Given the description of an element on the screen output the (x, y) to click on. 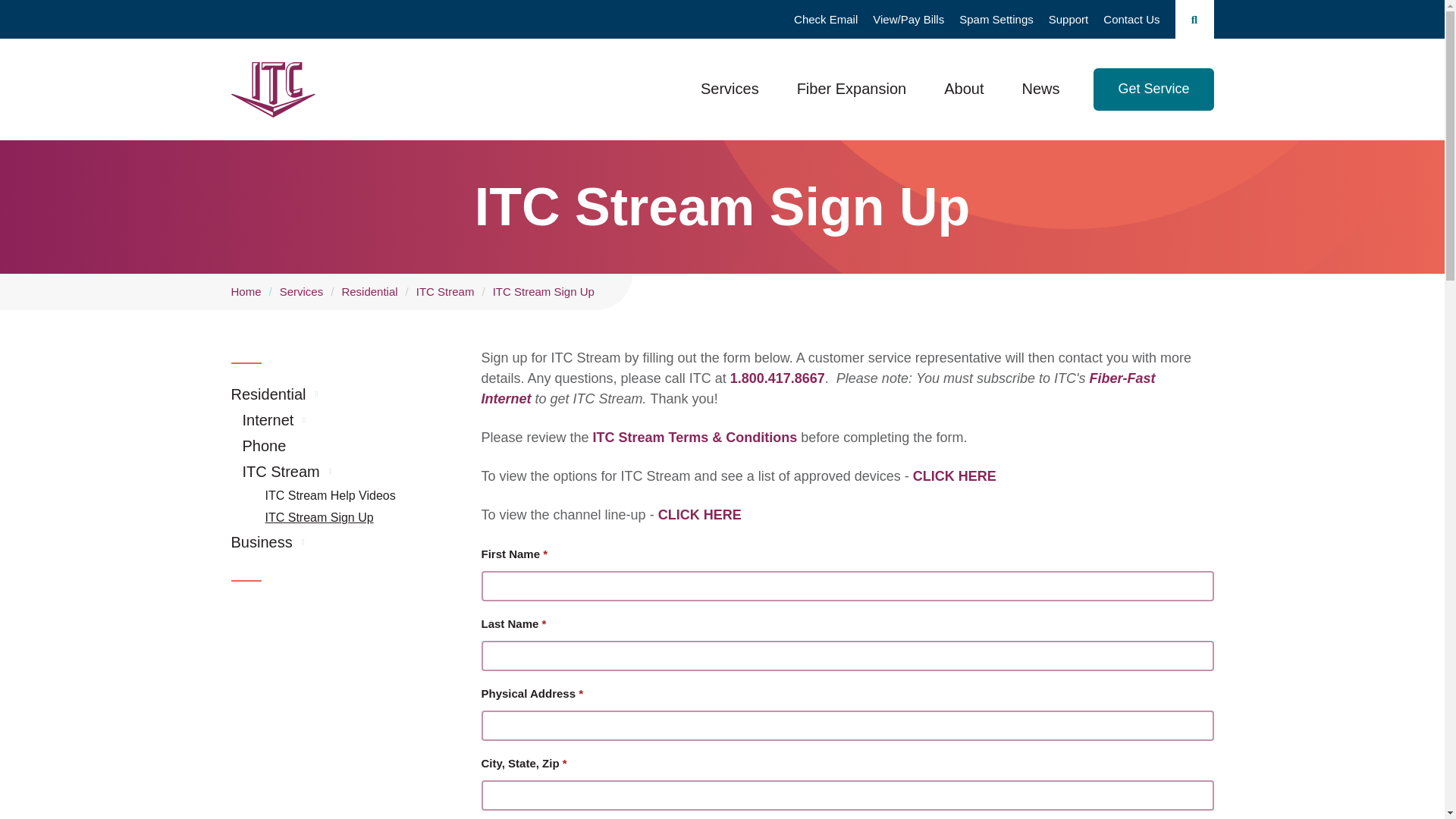
Home (272, 89)
Search (1194, 19)
